Given the description of an element on the screen output the (x, y) to click on. 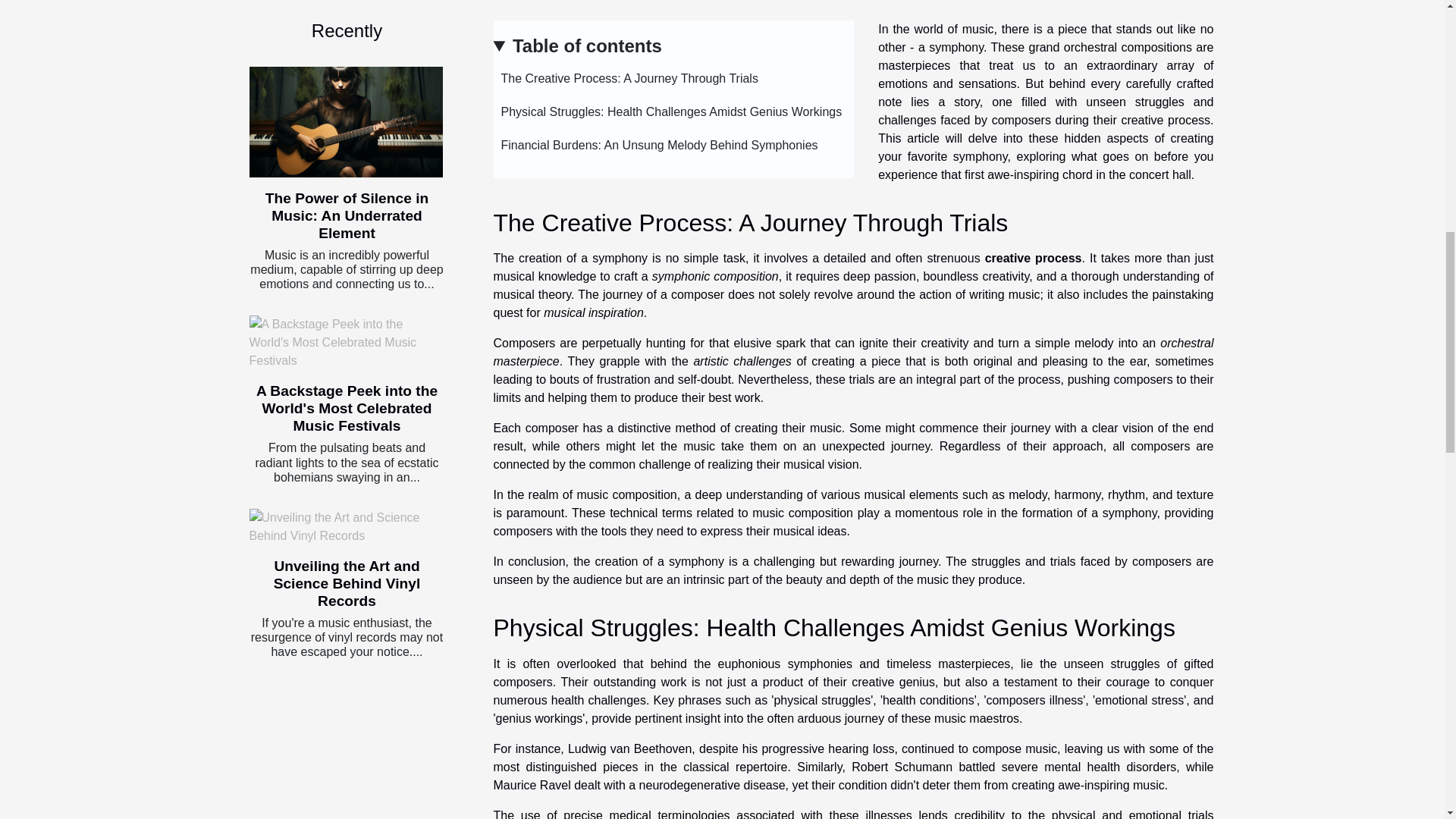
Unveiling the Art and Science Behind Vinyl Records (345, 526)
Unveiling the Art and Science Behind Vinyl Records (346, 583)
The Creative Process: A Journey Through Trials (625, 78)
Physical Struggles: Health Challenges Amidst Genius Workings (667, 111)
The Power of Silence in Music: An Underrated Element (346, 215)
The Power of Silence in Music: An Underrated Element (345, 121)
Unveiling the Art and Science Behind Vinyl Records (346, 583)
The Power of Silence in Music: An Underrated Element (346, 215)
Financial Burdens: An Unsung Melody Behind Symphonies (654, 144)
